Given the description of an element on the screen output the (x, y) to click on. 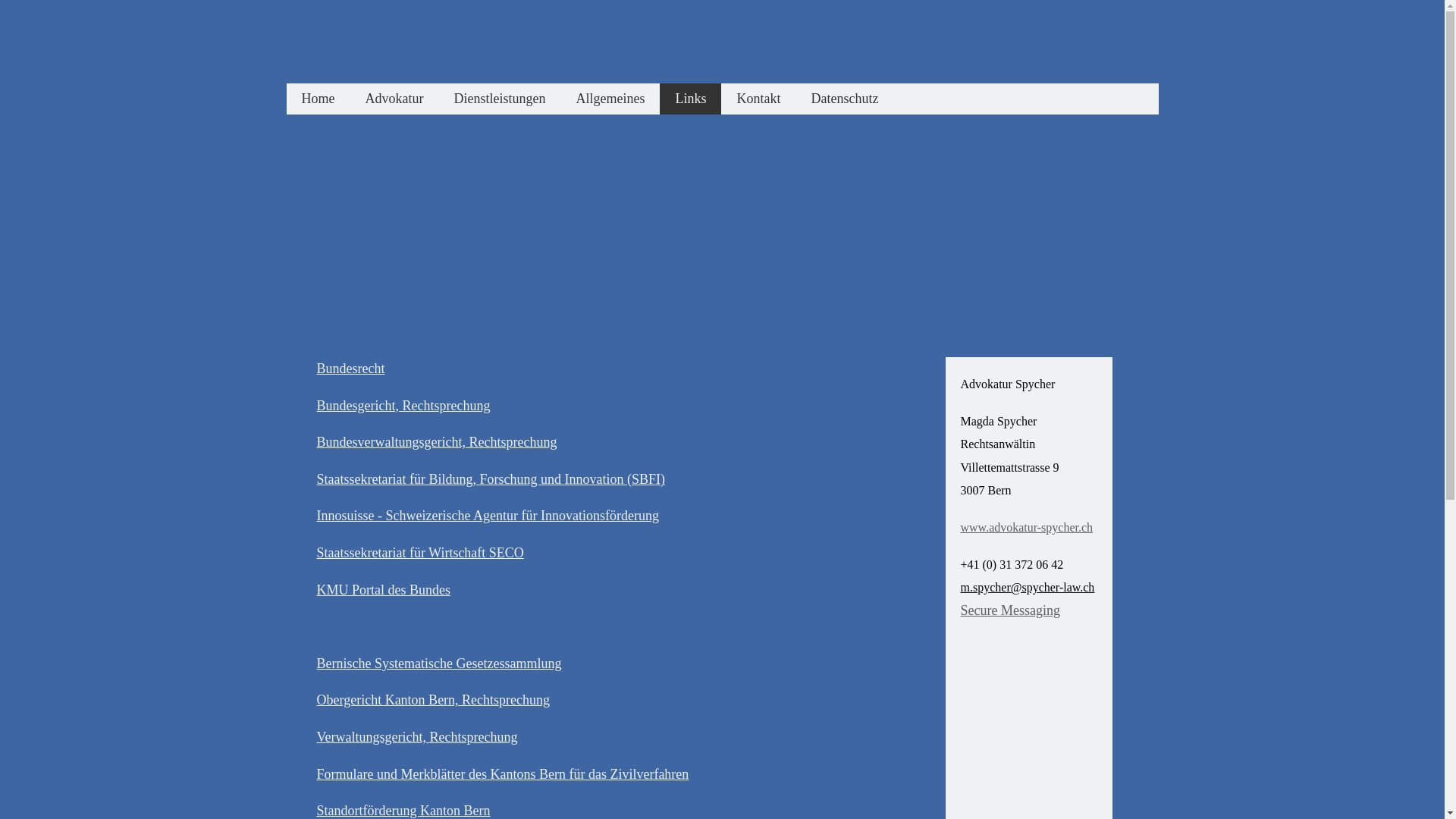
Secure Messaging Element type: text (1009, 610)
Datenschutz Element type: text (844, 98)
KMU Portal des Bundes Element type: text (383, 589)
Bundesgericht, Rechtsprechung Element type: text (403, 405)
Links Element type: text (690, 98)
Dienstleistungen Element type: text (499, 98)
Advokatur Element type: text (394, 98)
Bundesrecht Element type: text (350, 368)
m.spycher@spycher-law.ch Element type: text (1027, 586)
Allgemeines Element type: text (609, 98)
Obergericht Kanton Bern, Rechtsprechung Element type: text (433, 699)
Bundesverwaltungsgericht, Rechtsprechung Element type: text (436, 441)
www.advokatur-spycher.ch Element type: text (1026, 526)
Home Element type: text (318, 98)
Kontakt Element type: text (758, 98)
Bernische Systematische Gesetzessammlung Element type: text (438, 663)
Verwaltungsgericht, Rechtsprechung Element type: text (416, 736)
